Given the description of an element on the screen output the (x, y) to click on. 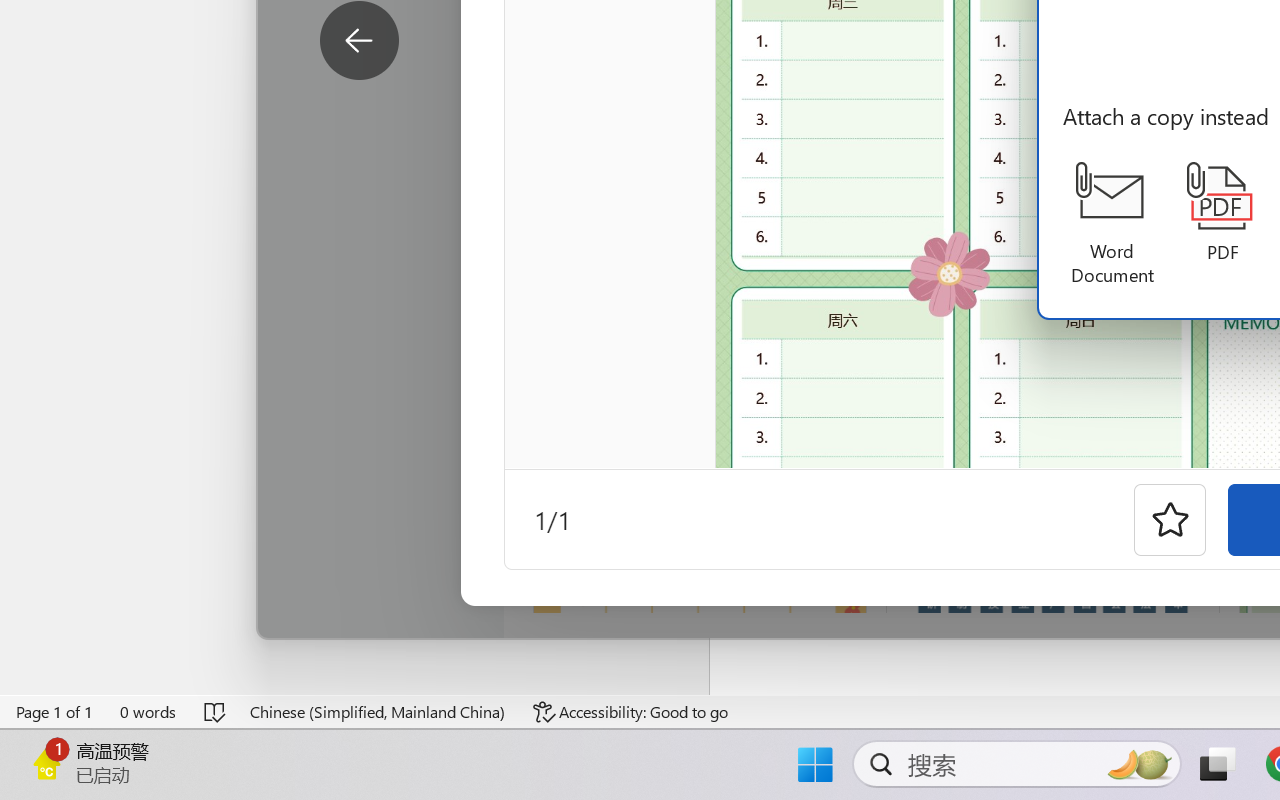
Language Chinese (Simplified, Mainland China) (378, 712)
Word Document (1112, 224)
PDF (1222, 213)
